Given the description of an element on the screen output the (x, y) to click on. 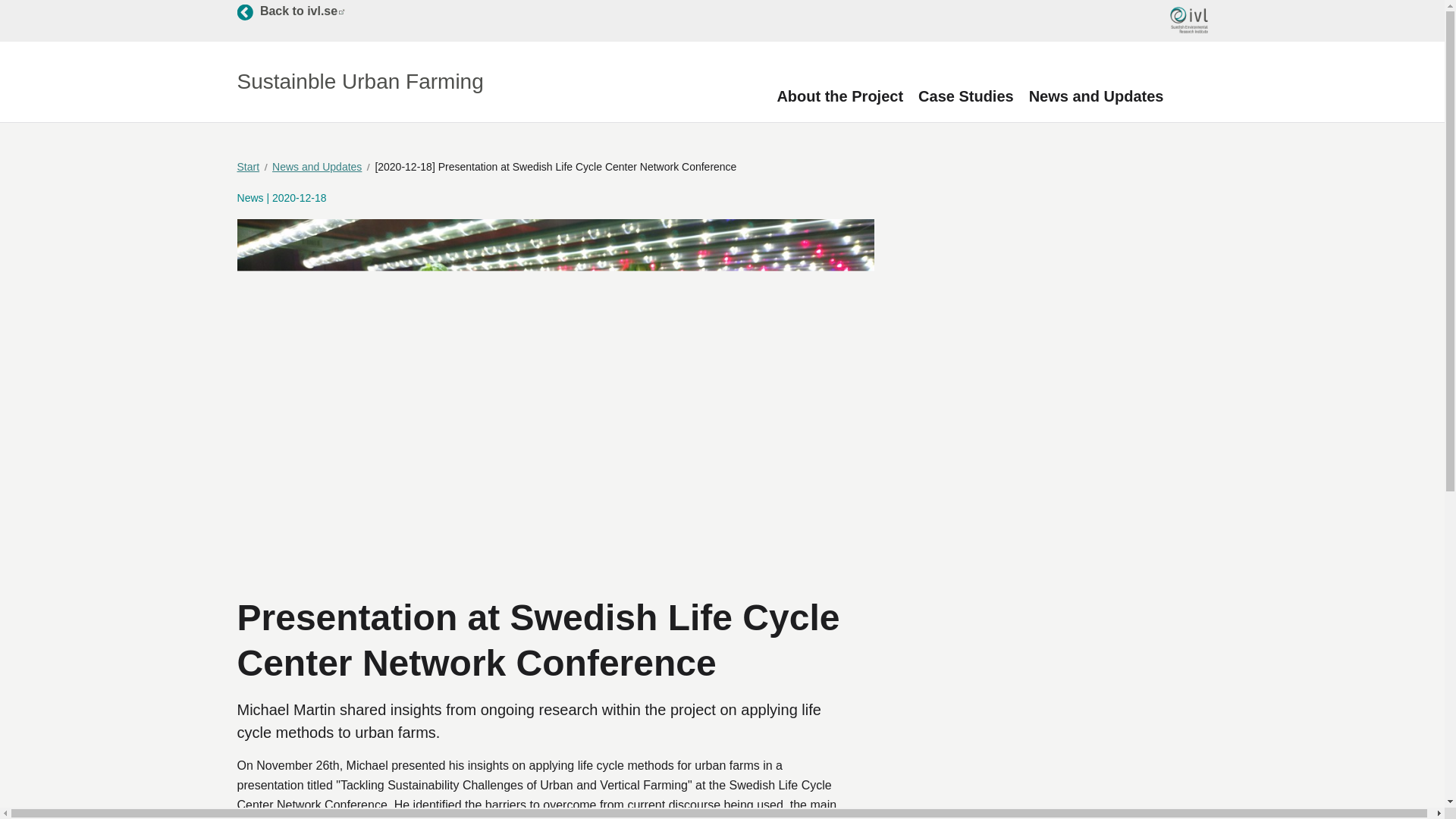
About the Project (839, 95)
Case Studies (965, 95)
News and Updates (290, 11)
Start (1096, 95)
News and Updates (251, 166)
Sustainble Urban Farming (321, 166)
